Given the description of an element on the screen output the (x, y) to click on. 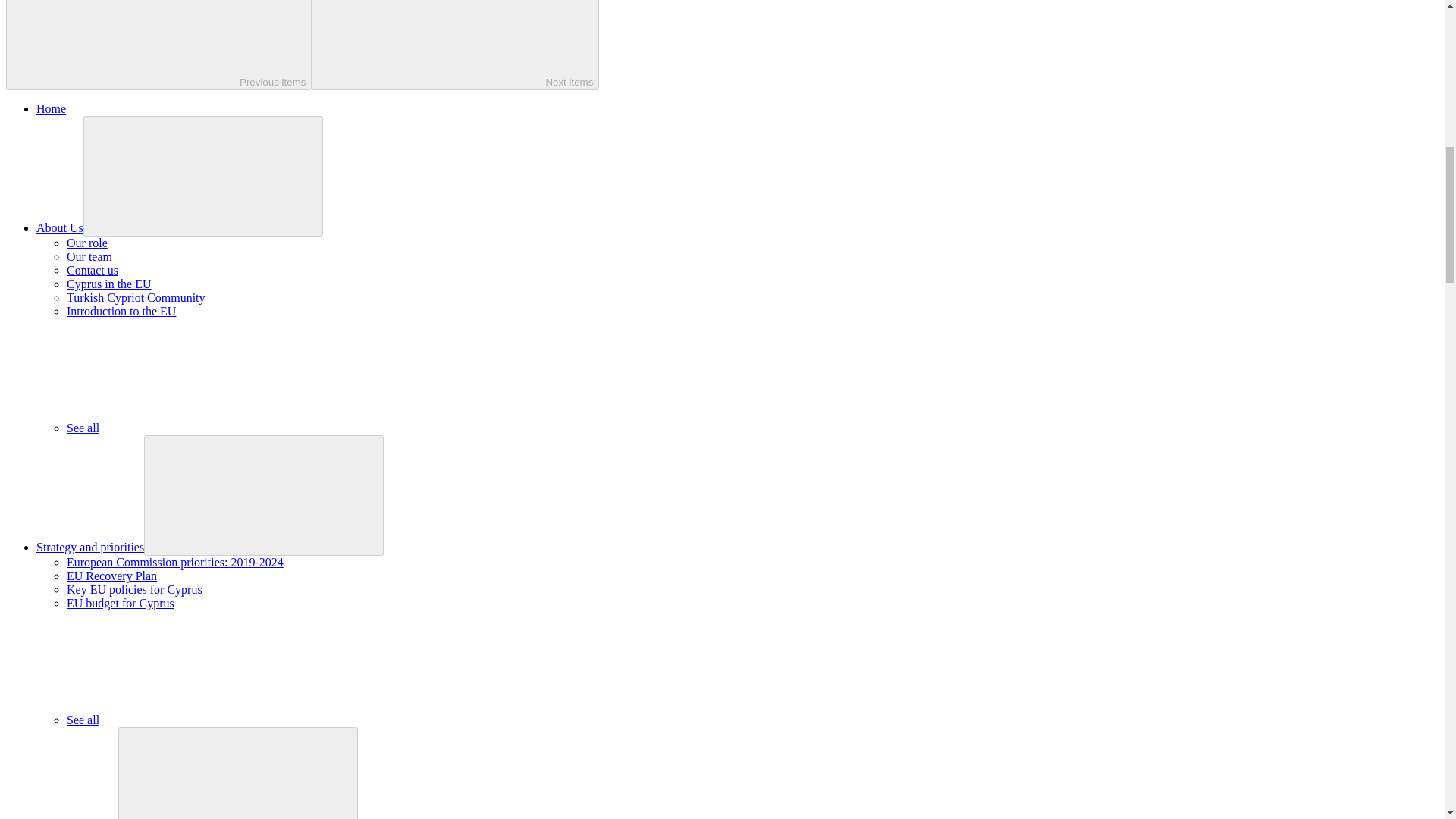
About Us (59, 227)
Introduction to the EU (121, 310)
EU Recovery Plan (111, 575)
Our role (86, 242)
Previous items (158, 45)
Turkish Cypriot Community (135, 297)
European Commission priorities: 2019-2024 (174, 562)
Home (50, 108)
EU budget for Cyprus (120, 603)
Our team (89, 256)
